Given the description of an element on the screen output the (x, y) to click on. 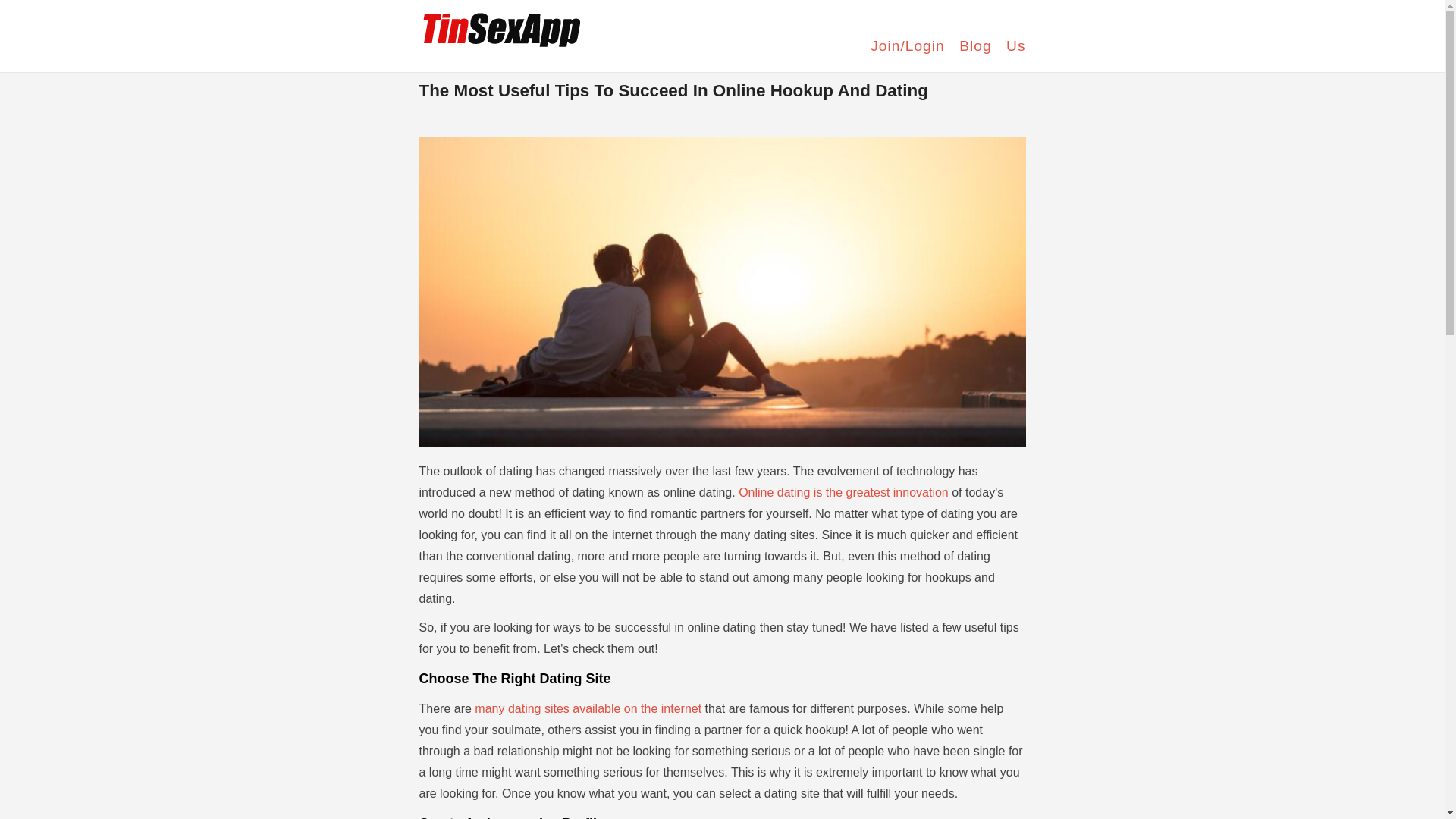
Blog (975, 45)
Us (1015, 45)
many dating sites available on the internet (587, 707)
Online dating is the greatest innovation (843, 492)
